Given the description of an element on the screen output the (x, y) to click on. 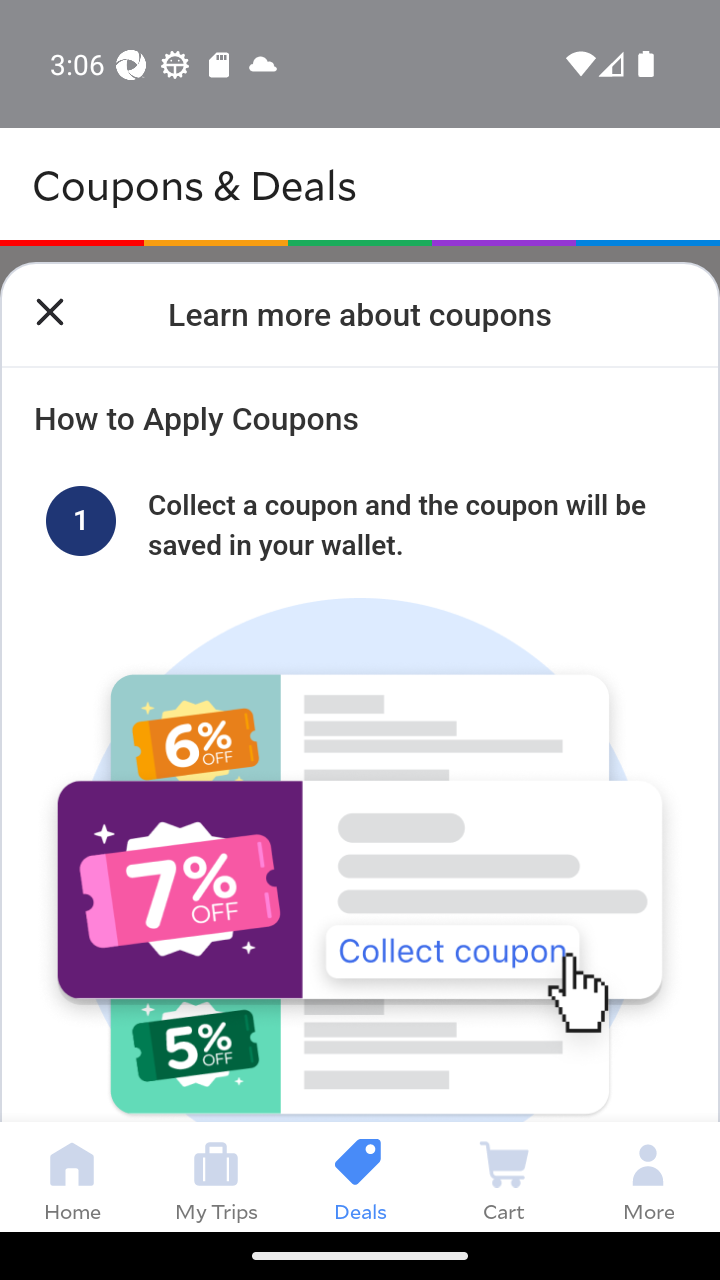
Home (72, 1176)
My Trips (216, 1176)
Deals (360, 1176)
Cart (504, 1176)
More (648, 1176)
